Given the description of an element on the screen output the (x, y) to click on. 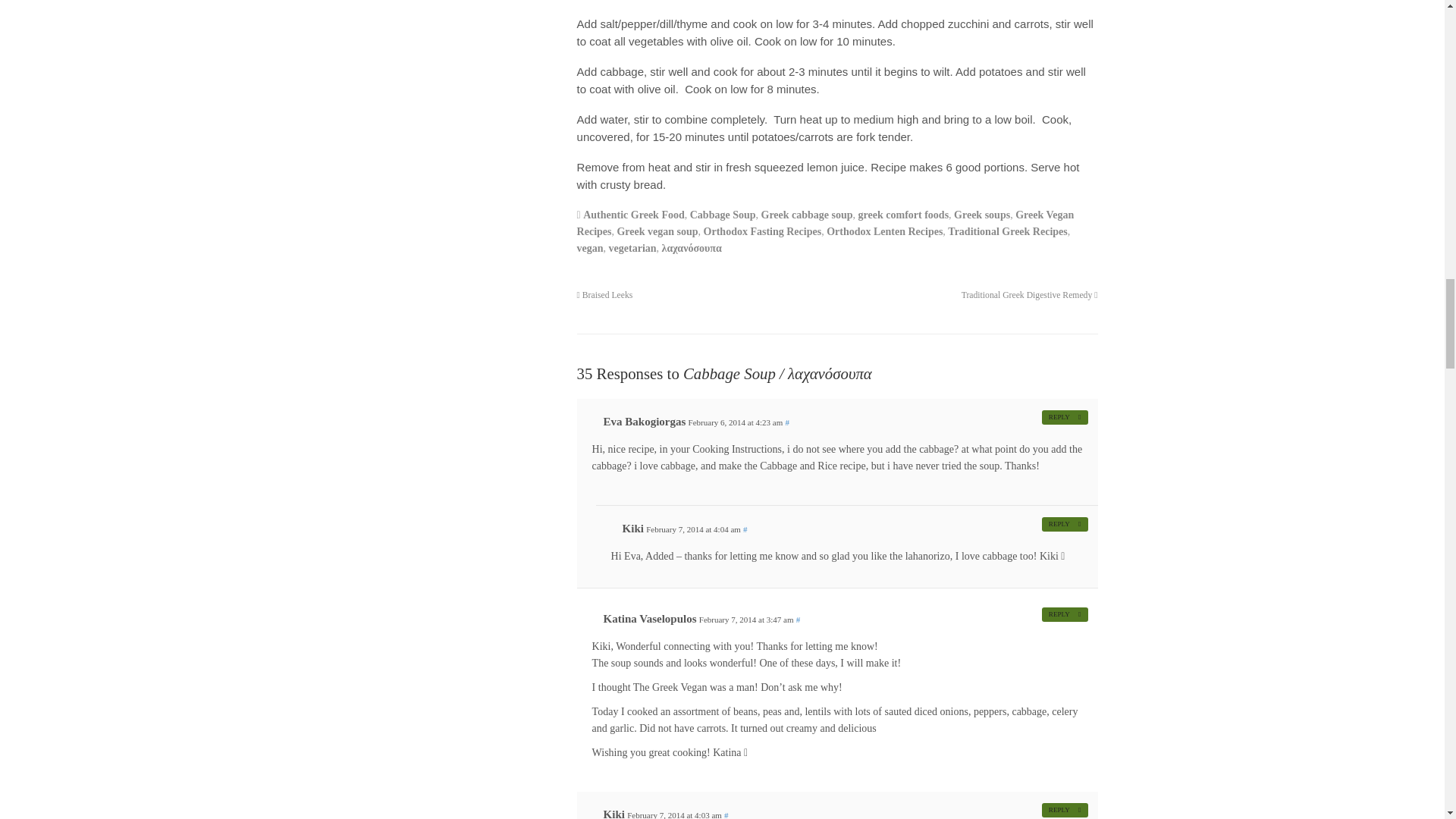
Authentic Greek Food (633, 214)
Greek cabbage soup (807, 214)
Cabbage Soup (722, 214)
Traditional Greek Recipes (1007, 231)
Greek vegan soup (656, 231)
Orthodox Lenten Recipes (884, 231)
greek comfort foods (904, 214)
Greek soups (981, 214)
vegan (590, 247)
Traditional Greek Digestive Remedy (1028, 295)
